Given the description of an element on the screen output the (x, y) to click on. 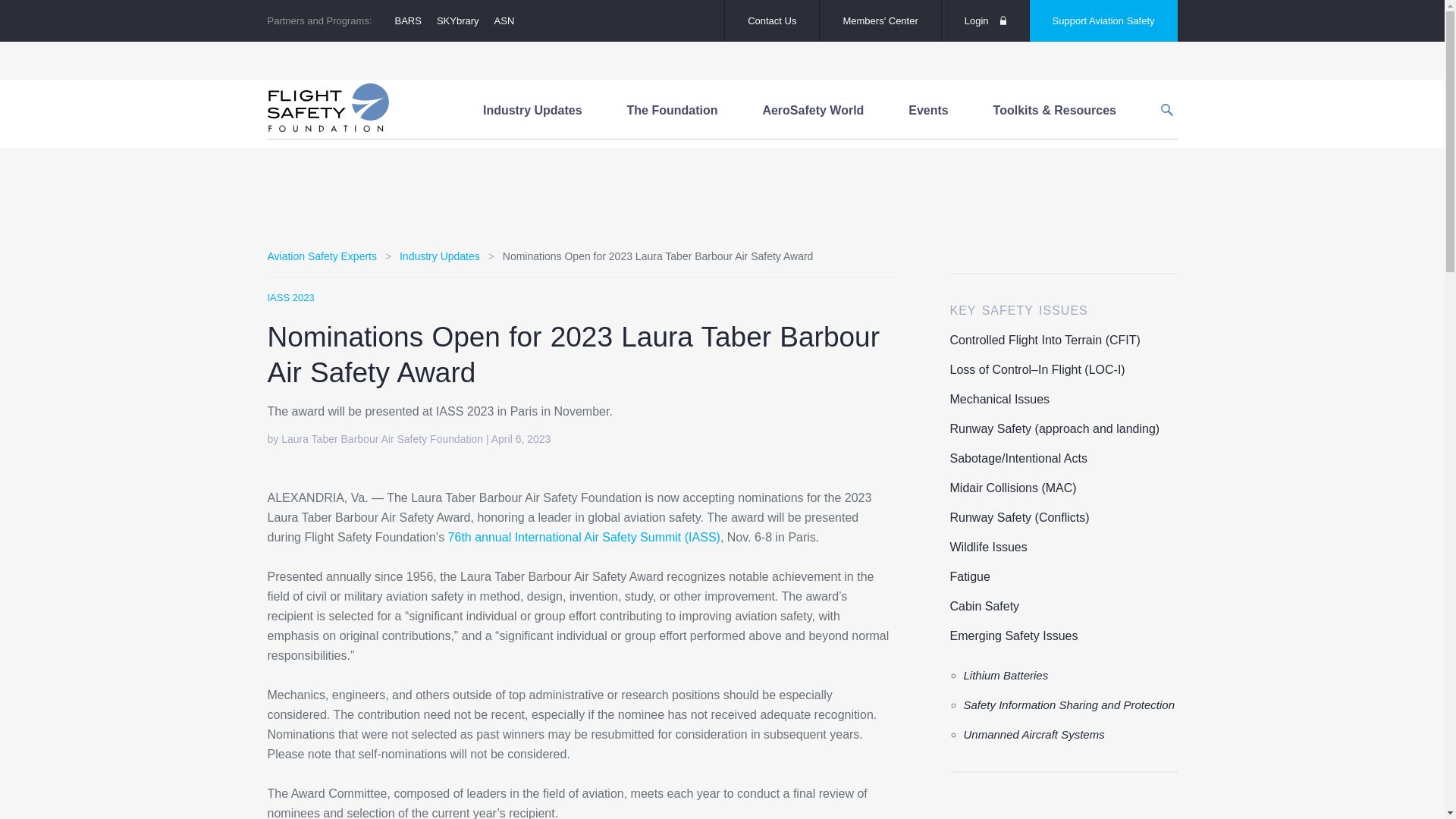
BARS (408, 20)
AeroSafety World (812, 110)
Industry Updates (532, 110)
Members' Center (879, 20)
ASN (504, 20)
Events (928, 110)
Support Aviation Safety (1103, 20)
Contact Us (771, 20)
SKYbrary (457, 20)
Login (985, 20)
